Given the description of an element on the screen output the (x, y) to click on. 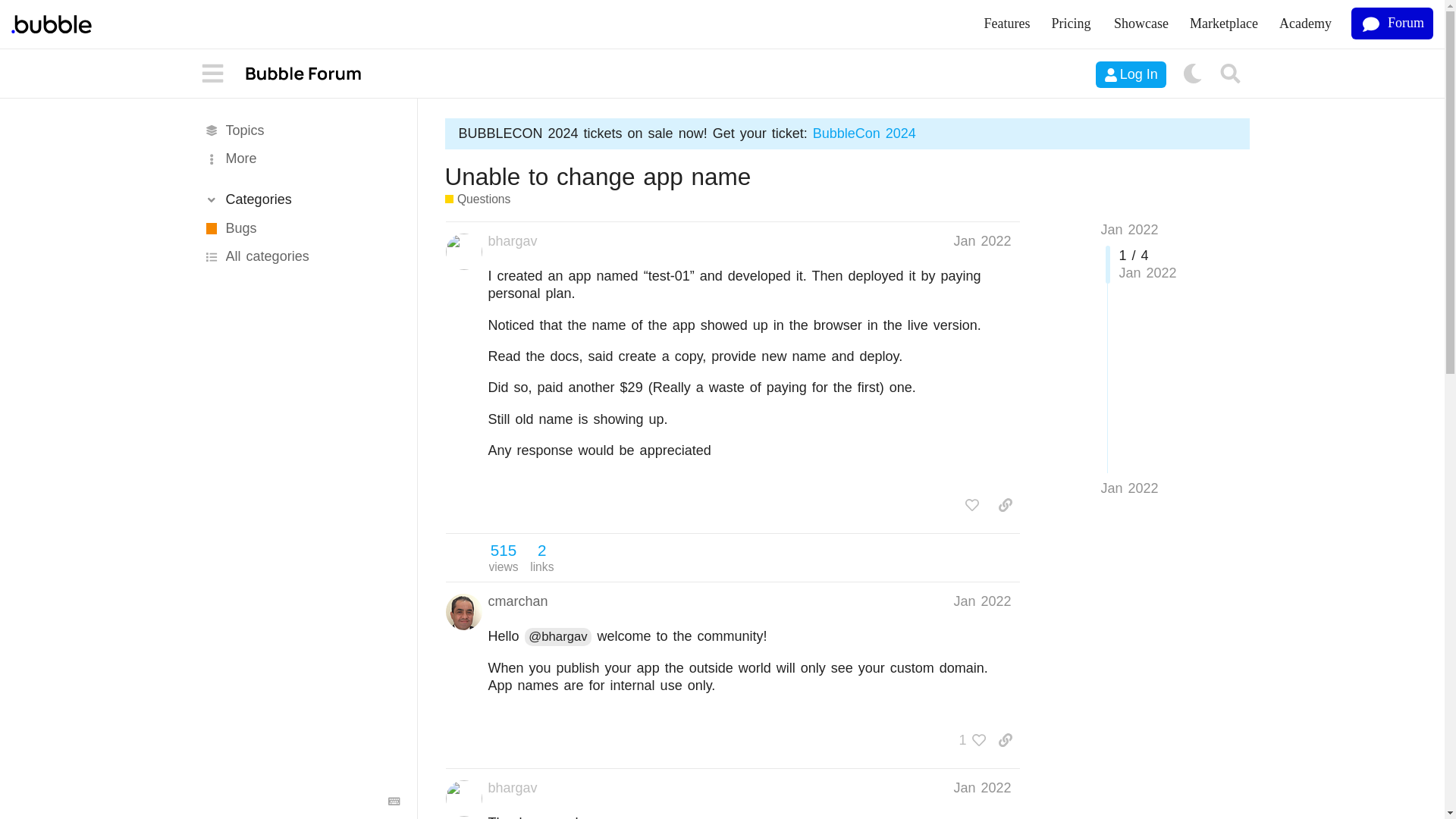
Jan 2022 (981, 601)
Search (1230, 73)
Academy (1304, 24)
Sidebar (213, 73)
Post date (981, 601)
Features (1007, 24)
cmarchan (517, 601)
like this post (972, 504)
Jan 2022 (1128, 488)
Jump to the first post (1128, 229)
